Given the description of an element on the screen output the (x, y) to click on. 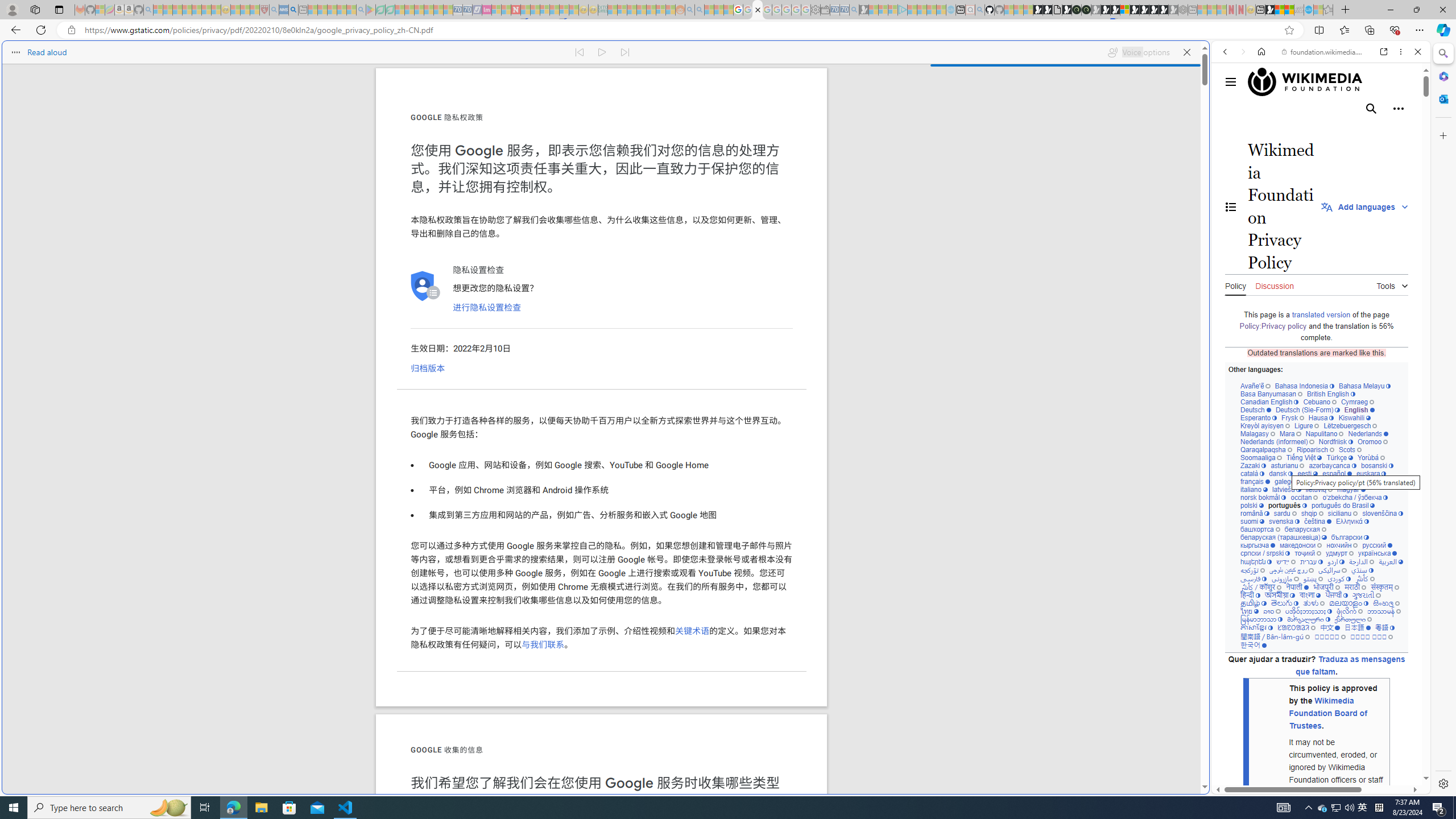
Recipes - MSN - Sleeping (234, 9)
Nederlands (1368, 433)
Basa Banyumasan (1271, 393)
hrvatski (1319, 481)
